Given the description of an element on the screen output the (x, y) to click on. 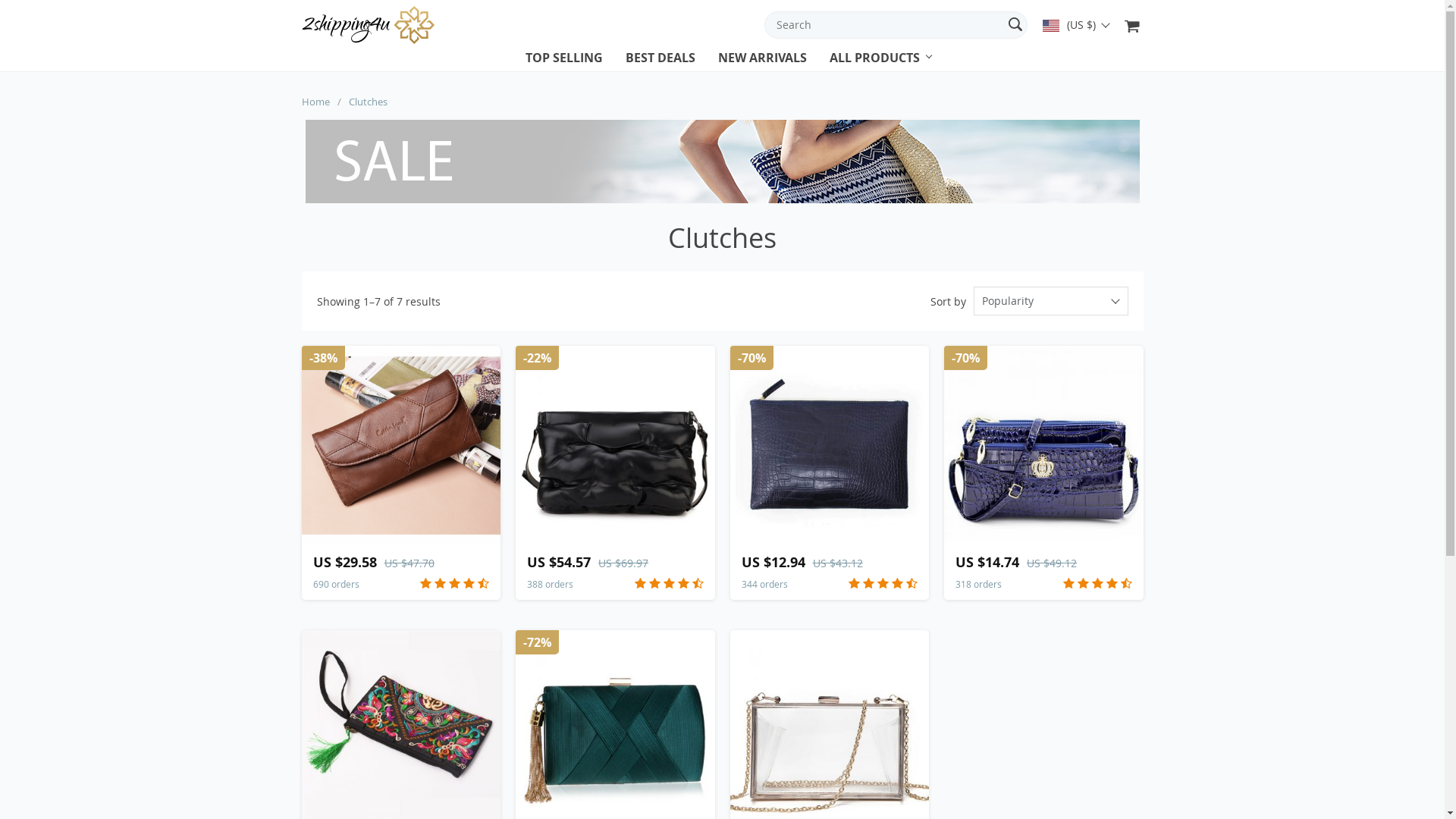
US $54.57
US $69.97
388 orders
-22% Element type: text (615, 472)
NEW ARRIVALS Element type: text (761, 61)
US $14.74
US $49.12
318 orders
-70% Element type: text (1043, 472)
Home Element type: text (315, 101)
TOP SELLING Element type: text (563, 61)
US $12.94
US $43.12
344 orders
-70% Element type: text (828, 472)
ALL PRODUCTS Element type: text (874, 61)
US $29.58
US $47.70
690 orders
-38% Element type: text (401, 472)
BEST DEALS Element type: text (659, 61)
